Given the description of an element on the screen output the (x, y) to click on. 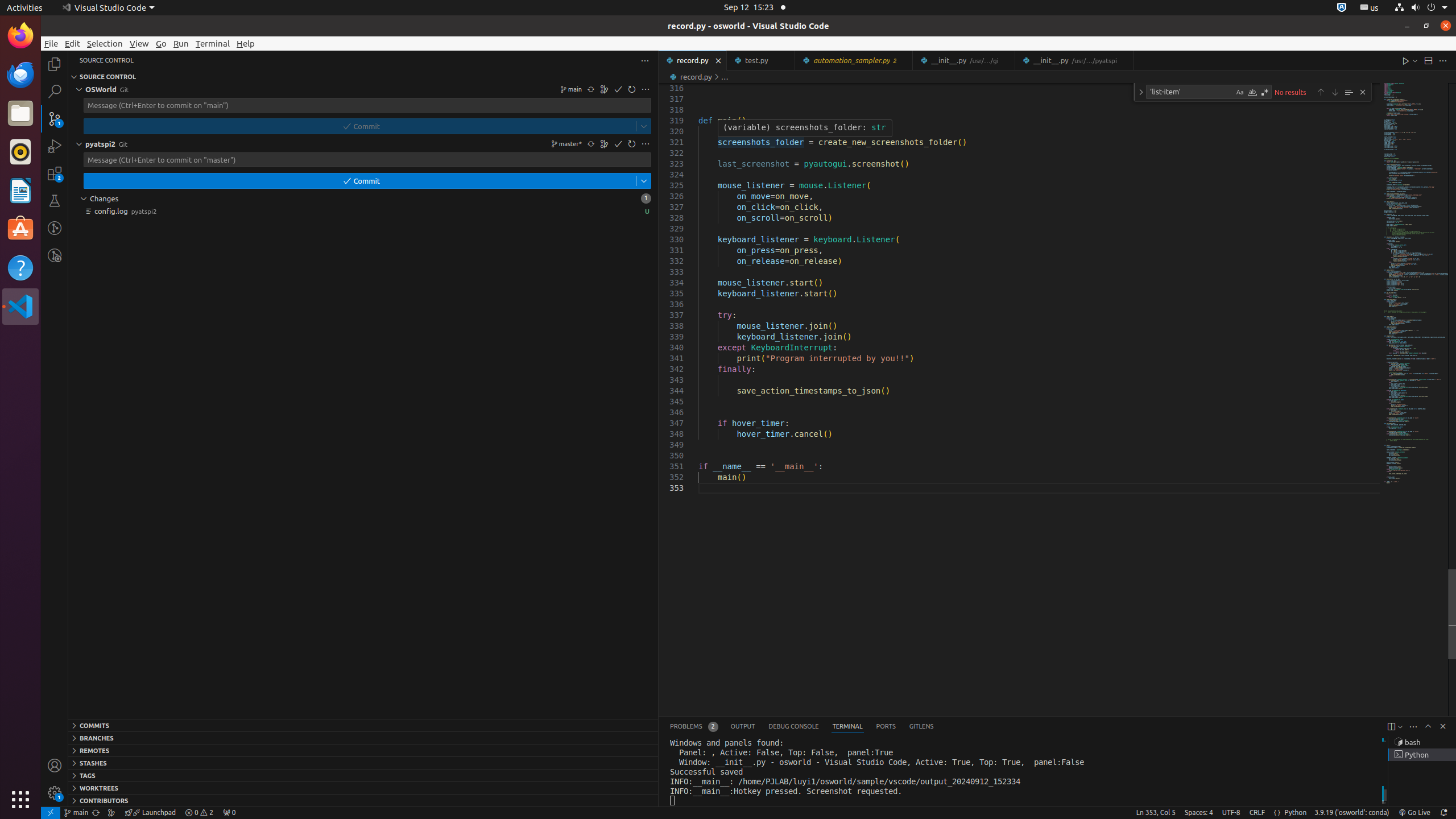
main, Checkout Branch/Tag... Element type: push-button (569, 88)
$(check) Commit Element type: tree-item (363, 180)
broadcast Go Live, Click to run live server Element type: push-button (1414, 812)
Extensions (Ctrl+Shift+X) - 2 require update Element type: page-tab (54, 173)
